Given the description of an element on the screen output the (x, y) to click on. 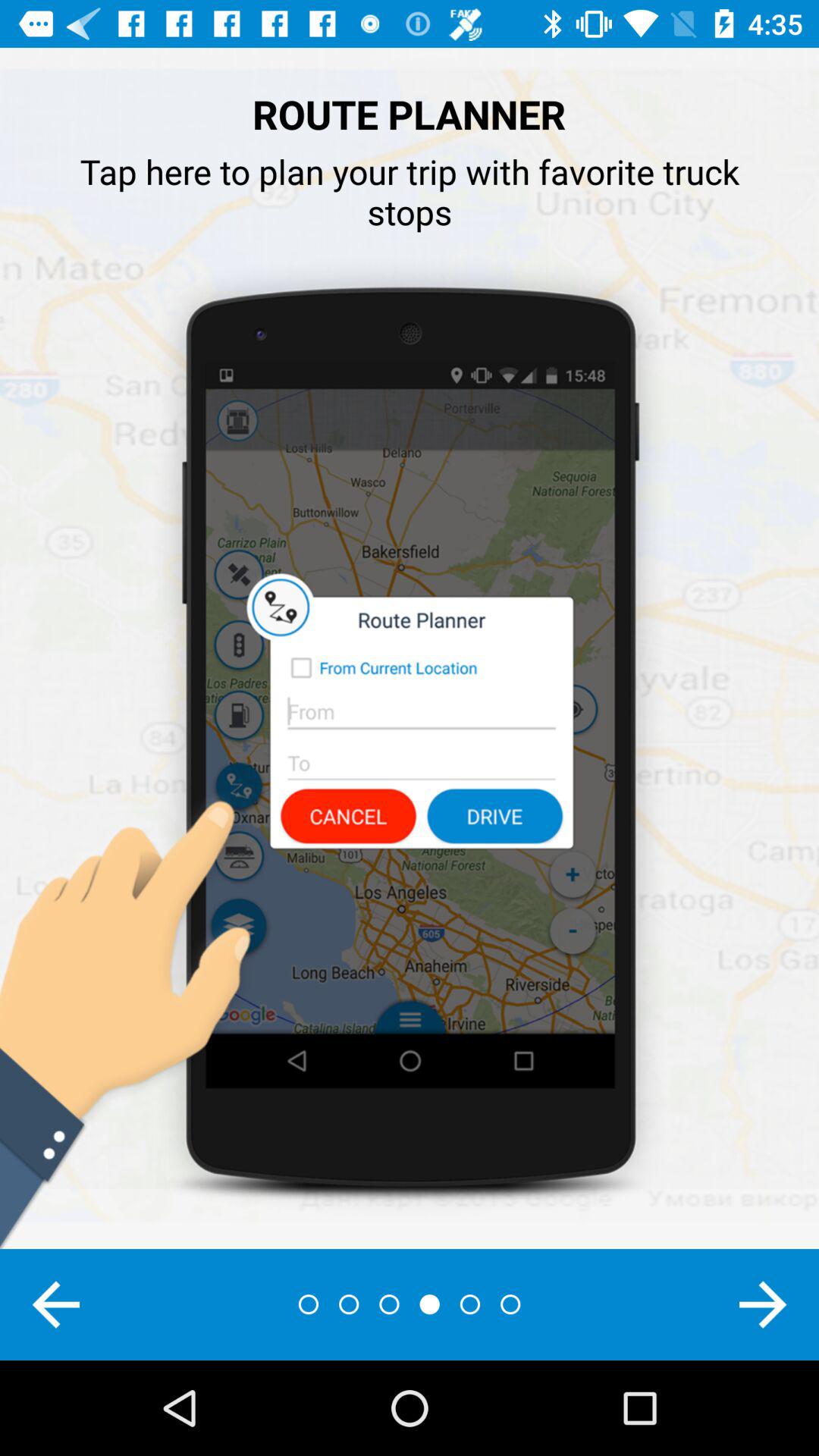
next page (763, 1304)
